Given the description of an element on the screen output the (x, y) to click on. 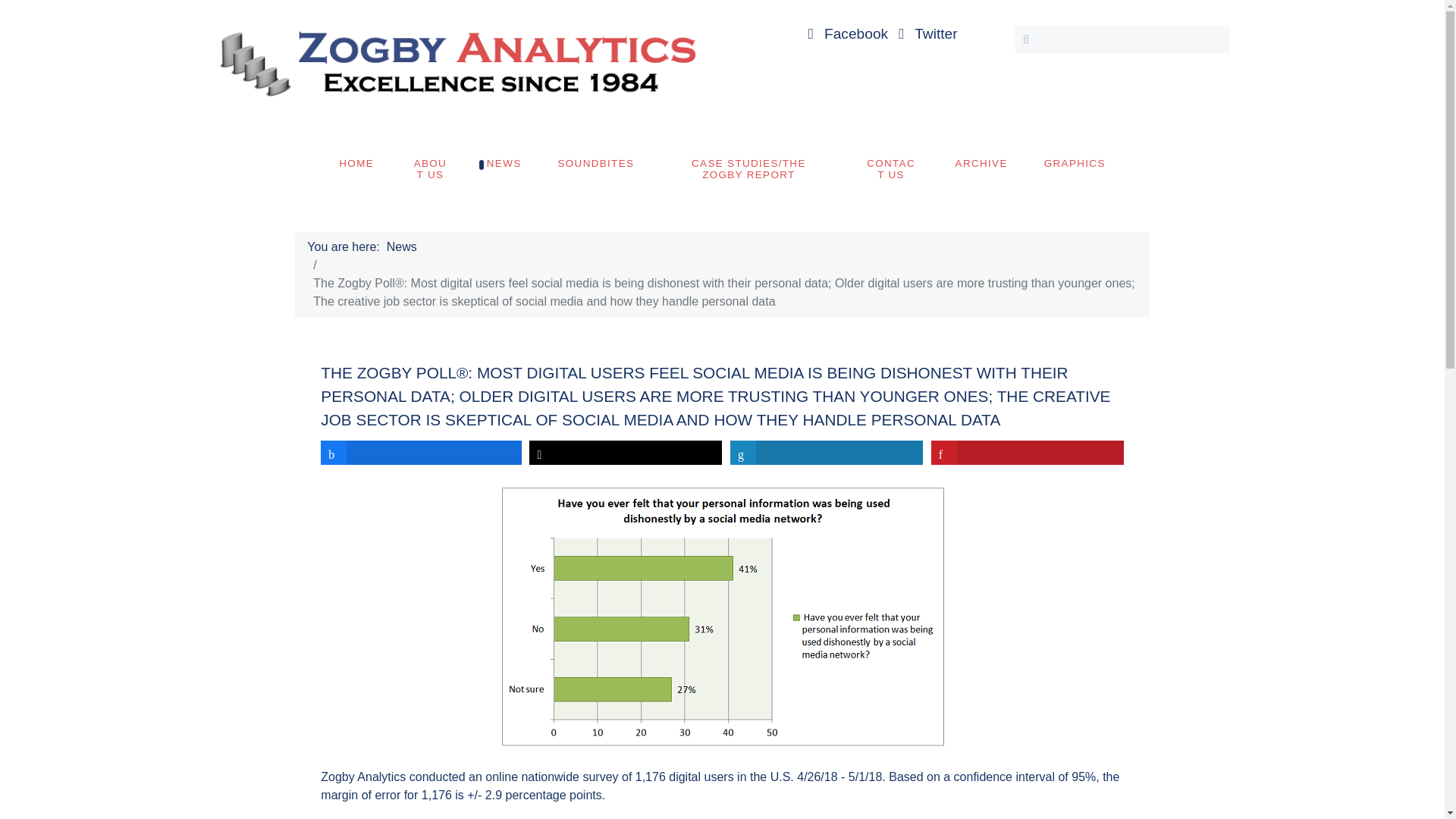
Twitter (925, 33)
NEWS (504, 162)
HOME (355, 162)
ARCHIVE (981, 162)
Zogby Analytics (454, 60)
SOUNDBITES (595, 162)
CONTACT US (890, 168)
Twitter (925, 33)
News (401, 247)
ABOUT US (429, 168)
